Given the description of an element on the screen output the (x, y) to click on. 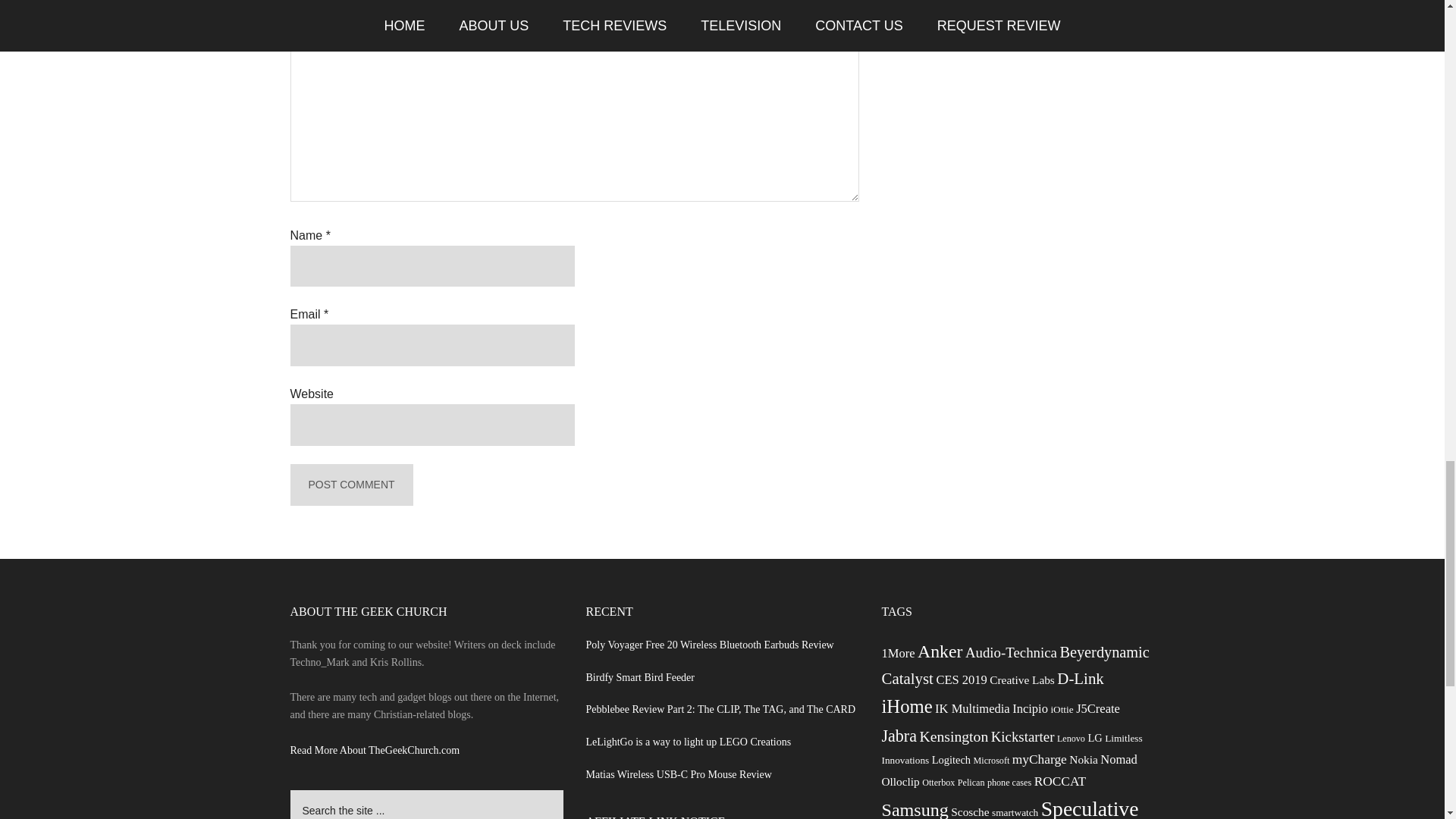
Post Comment (350, 485)
Post Comment (350, 485)
